Given the description of an element on the screen output the (x, y) to click on. 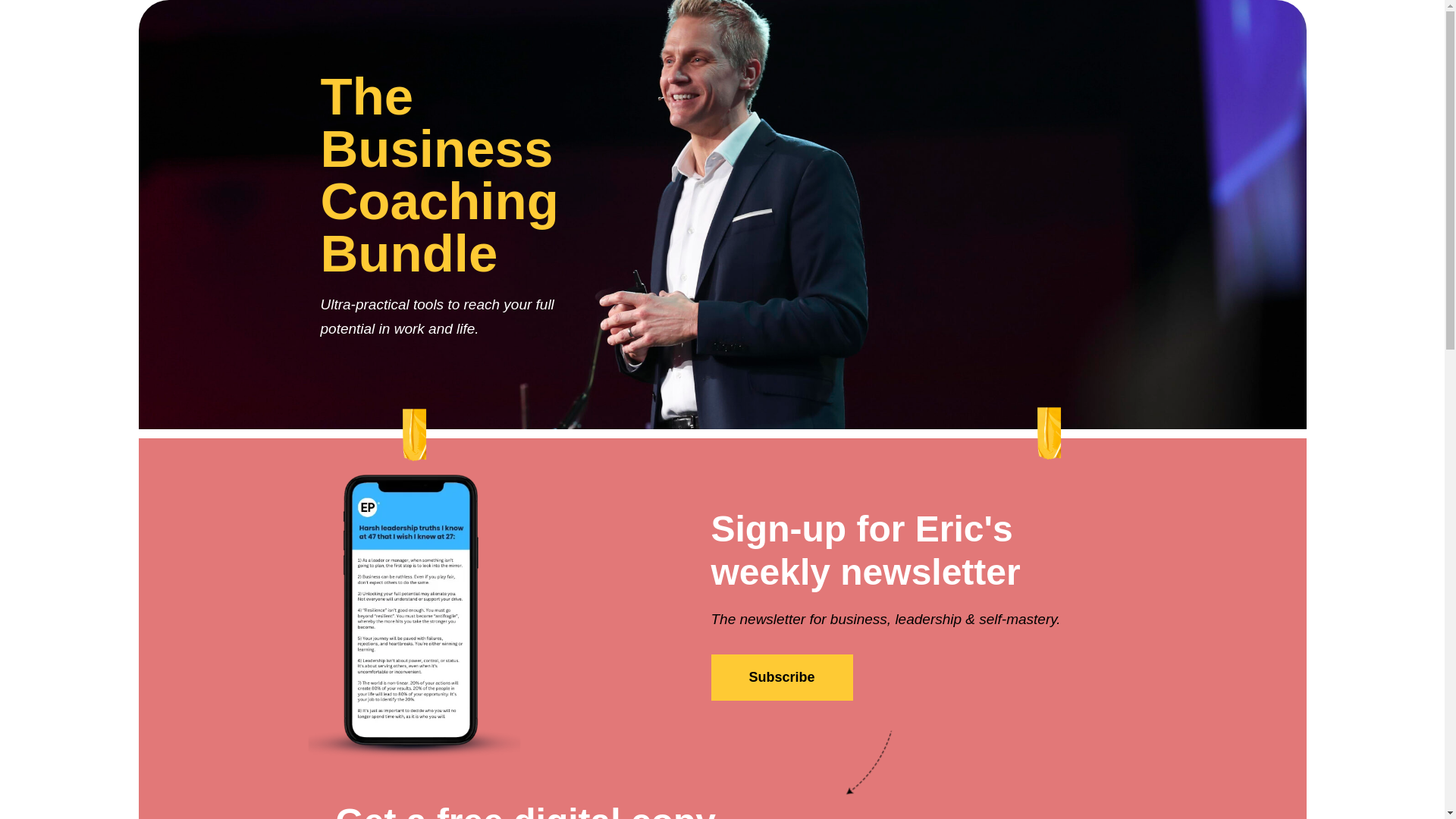
Subscribe (782, 677)
